Given the description of an element on the screen output the (x, y) to click on. 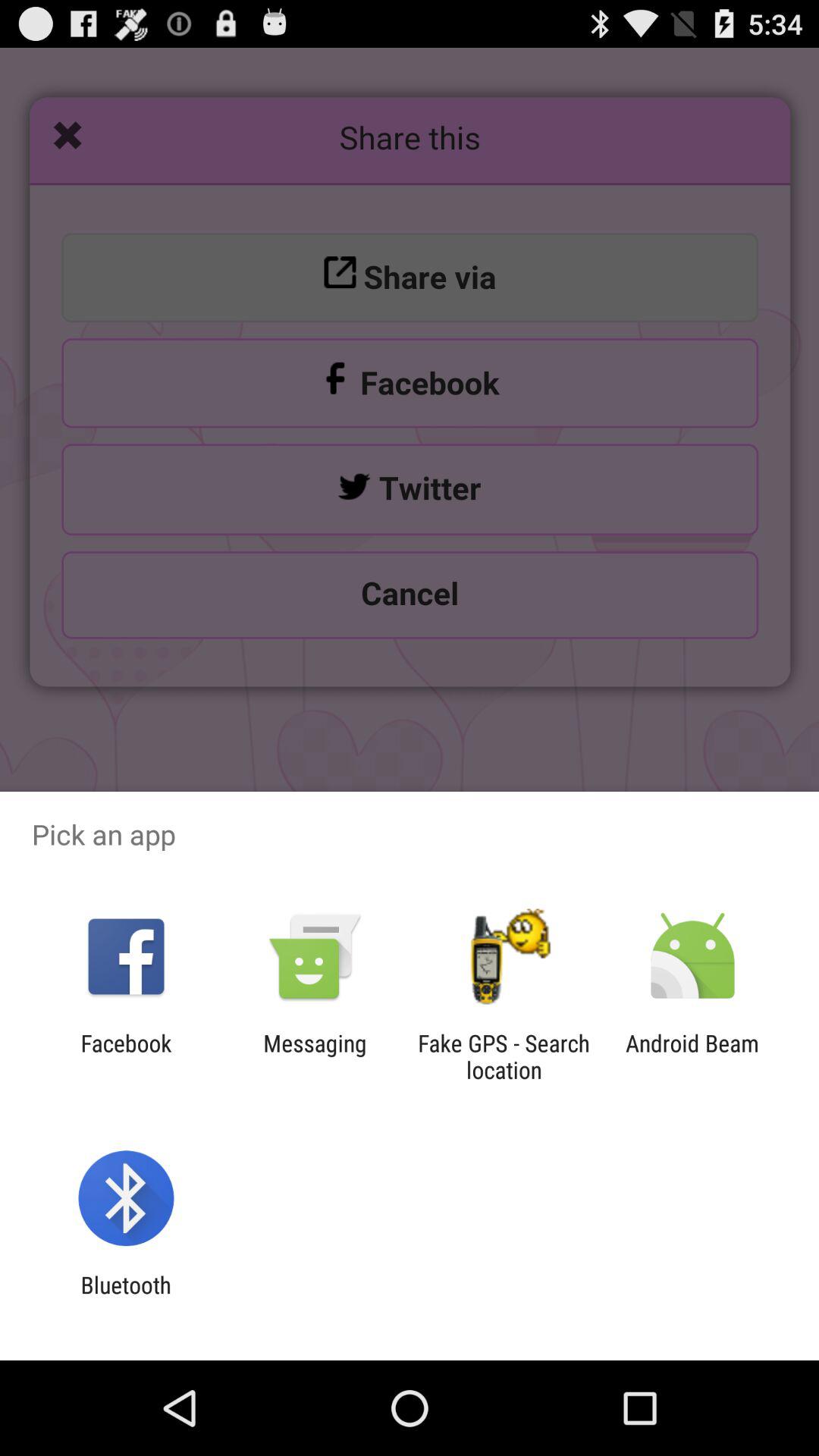
tap the facebook icon (125, 1056)
